Given the description of an element on the screen output the (x, y) to click on. 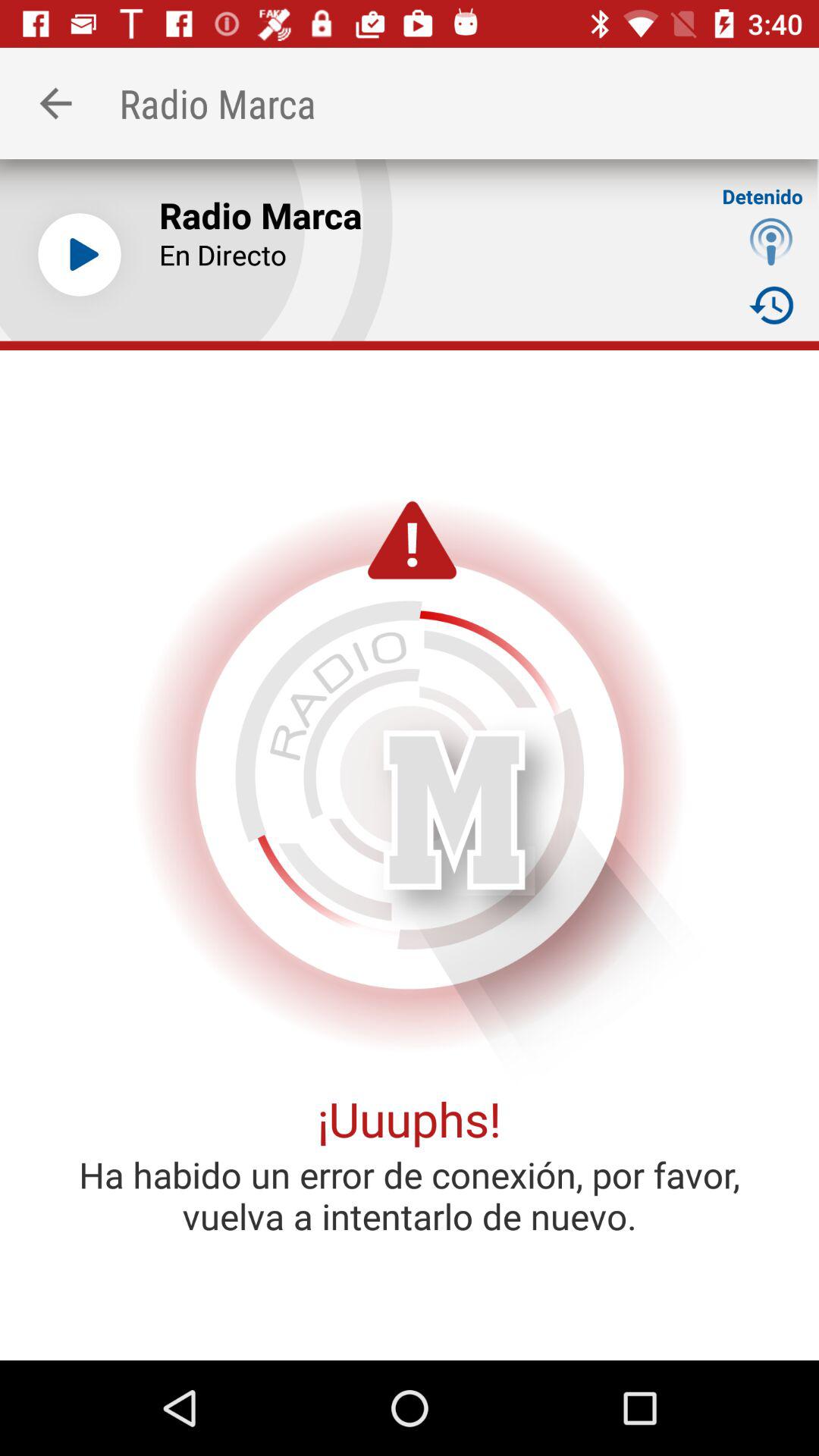
choose item to the right of the en directo icon (771, 305)
